Given the description of an element on the screen output the (x, y) to click on. 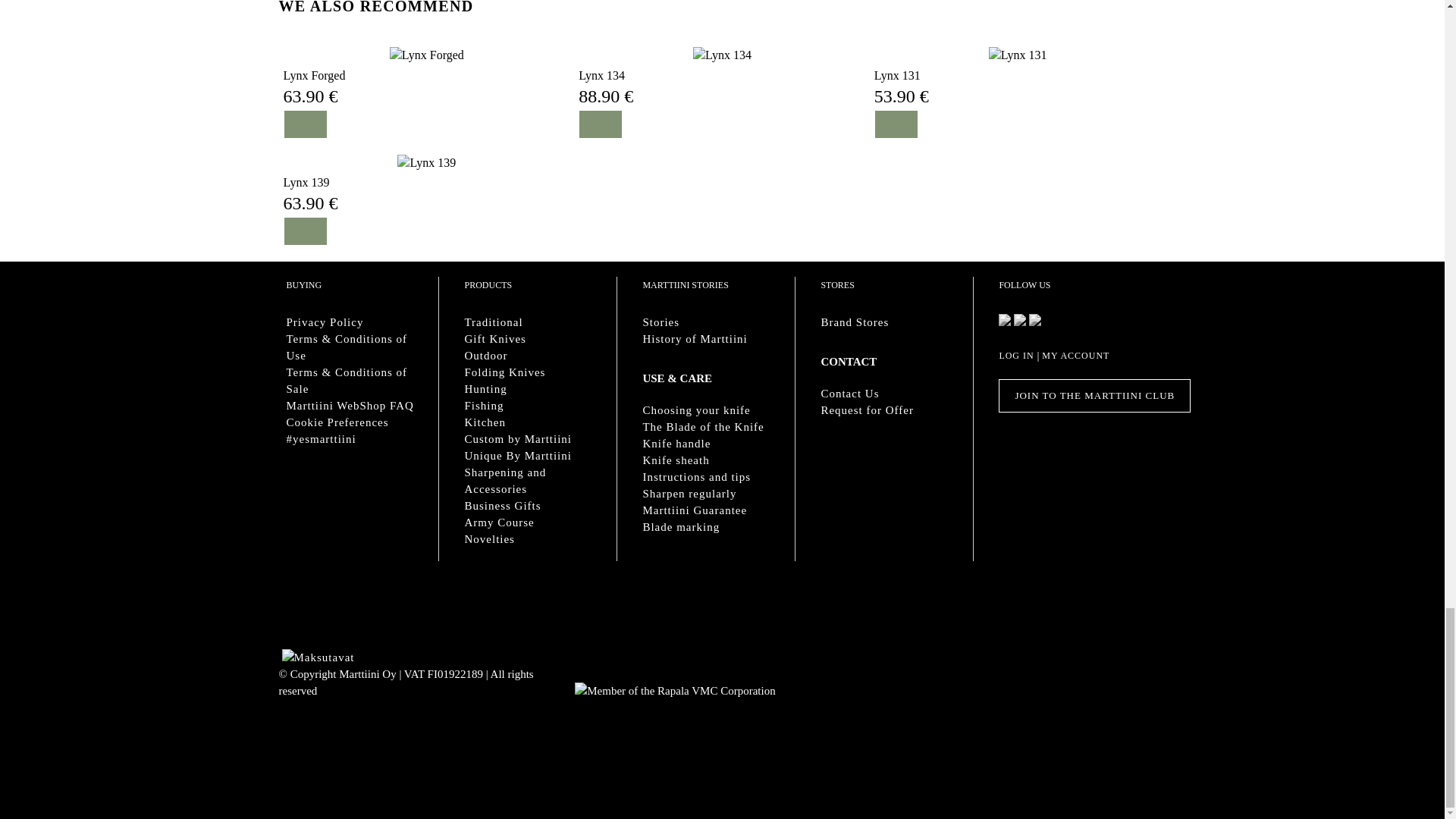
Go to product (314, 75)
Go to product (601, 75)
Go to product (722, 54)
Go to product (1017, 54)
Go to product (426, 162)
Go to product (306, 182)
Go to product (897, 75)
Add to basket (304, 124)
Add to basket (896, 124)
Add to basket (600, 124)
Go to product (427, 54)
